Given the description of an element on the screen output the (x, y) to click on. 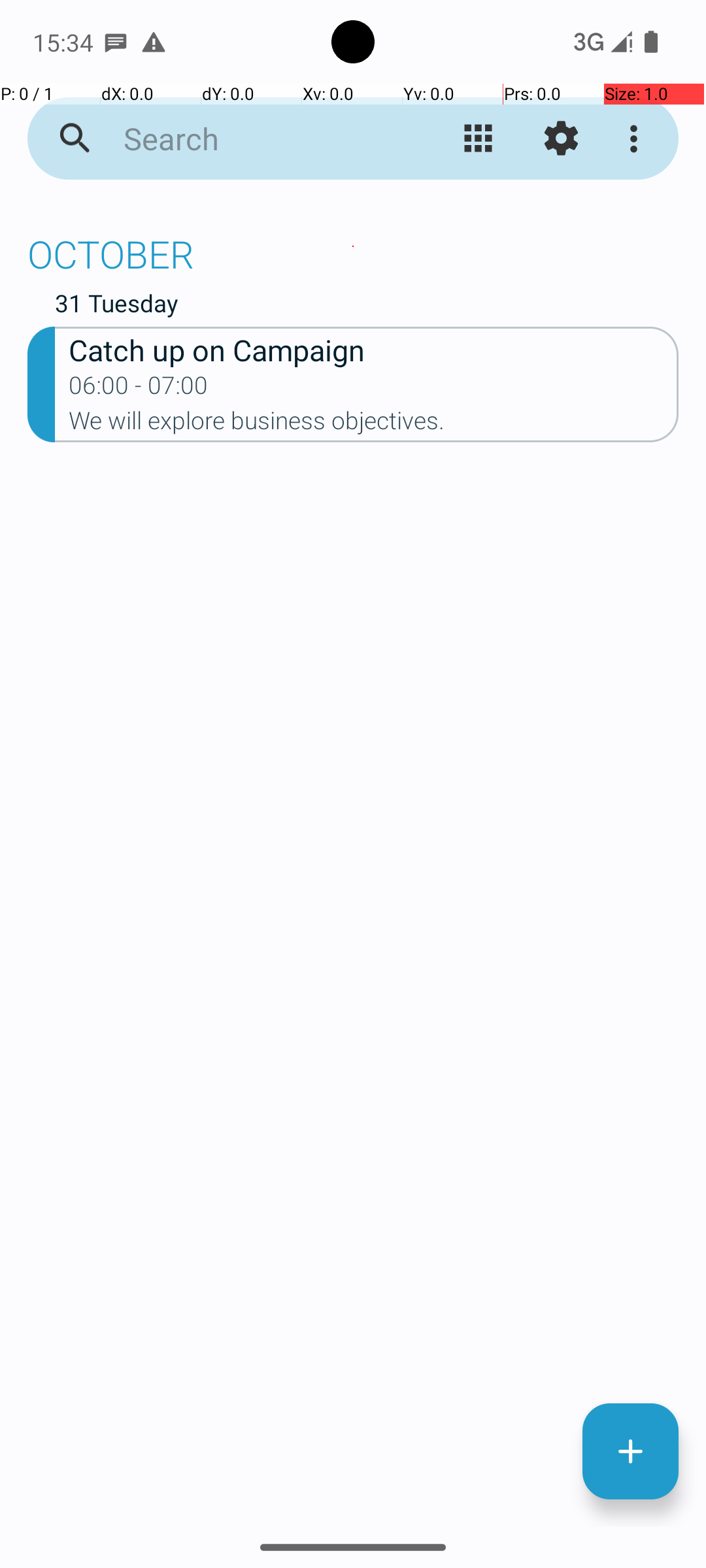
OCTOBER Element type: android.widget.TextView (353, 246)
31 Tuesday Element type: android.widget.TextView (366, 306)
Catch up on Campaign Element type: android.widget.TextView (373, 348)
06:00 - 07:00 Element type: android.widget.TextView (137, 389)
We will explore business objectives. Element type: android.widget.TextView (373, 424)
